Given the description of an element on the screen output the (x, y) to click on. 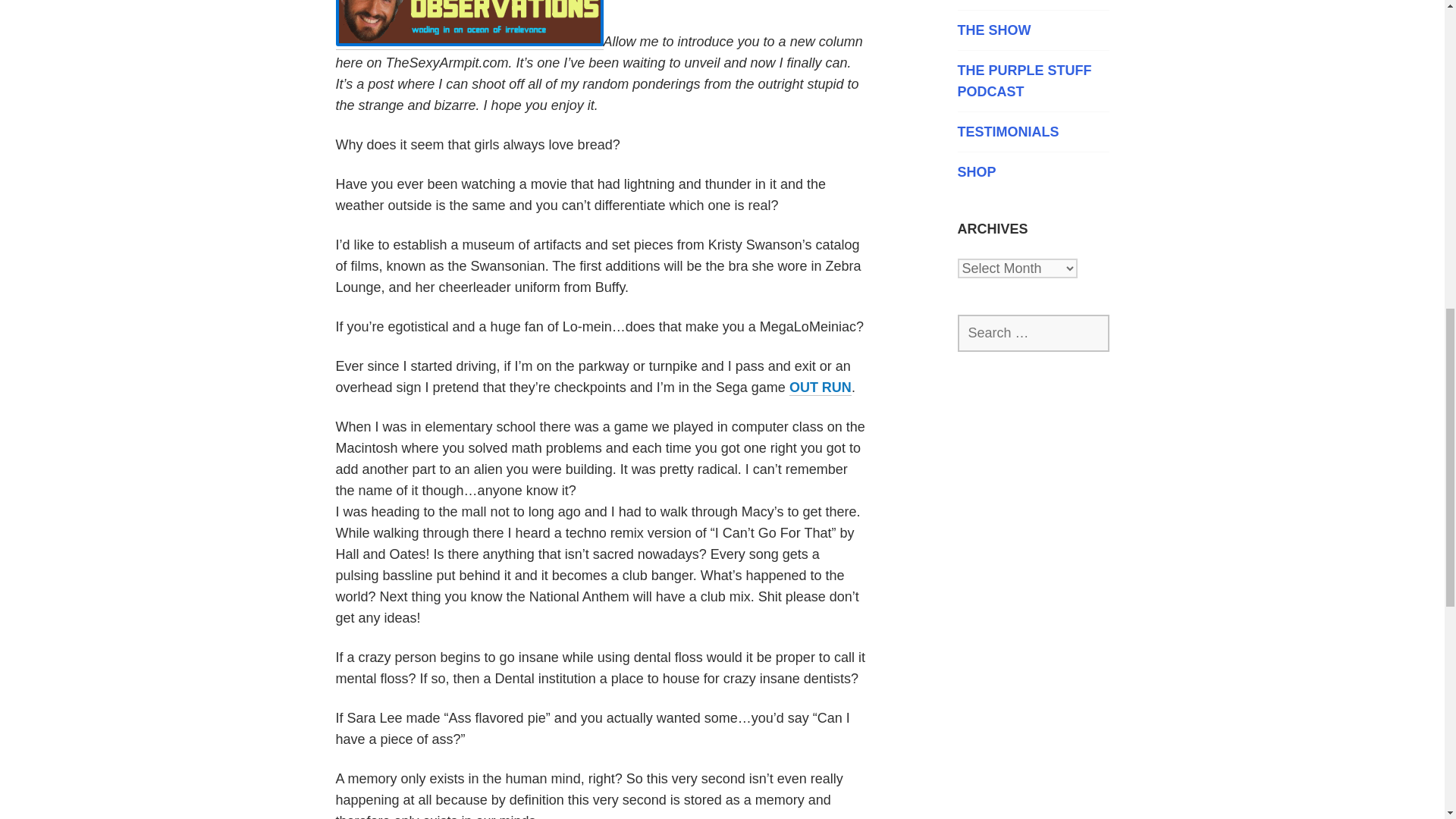
OUT RUN (820, 387)
THE PURPLE STUFF PODCAST (1032, 80)
SHOP (1032, 171)
TESTIMONIALS (1032, 131)
The Sexy Armpit Show (1032, 29)
THE SHOW (1032, 29)
